Given the description of an element on the screen output the (x, y) to click on. 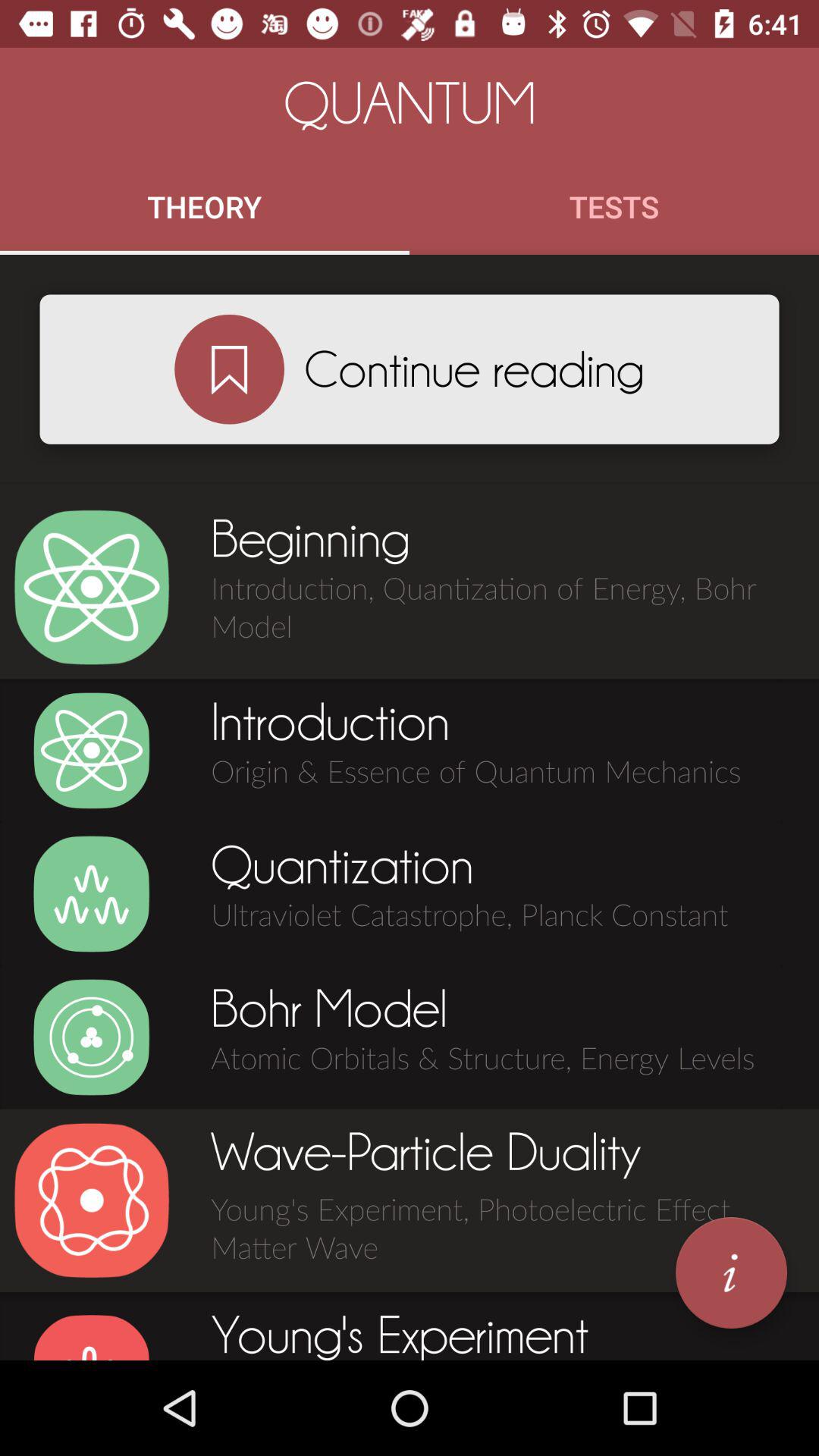
select icon to the right of young's experiment item (731, 1272)
